Given the description of an element on the screen output the (x, y) to click on. 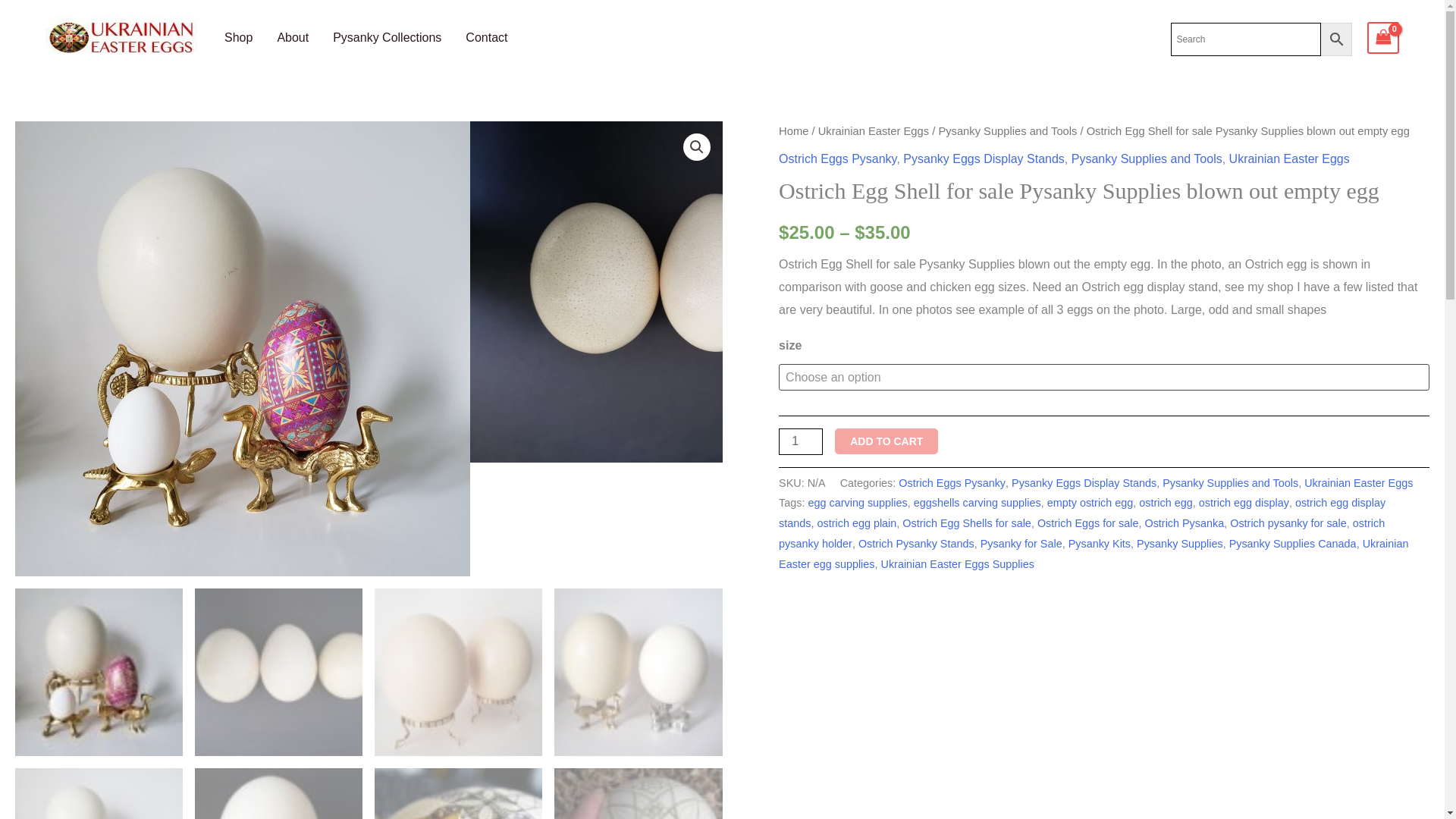
Ostrich Eggs Pysanky (837, 158)
ADD TO CART (885, 441)
Pysanky Eggs Display Stands (1083, 482)
Ostrich Eggs Pysanky (952, 482)
Pysanky Supplies and Tools (1229, 482)
Ukrainian Easter Eggs (873, 131)
Ukrainian Easter Eggs (1358, 482)
Pysanky Supplies and Tools (1147, 158)
Pysanky Eggs Display Stands (983, 158)
Pysanky Supplies and Tools (1007, 131)
1 (800, 441)
Ukrainian Easter Eggs (1288, 158)
Pysanky Collections (386, 38)
Home (793, 131)
